Given the description of an element on the screen output the (x, y) to click on. 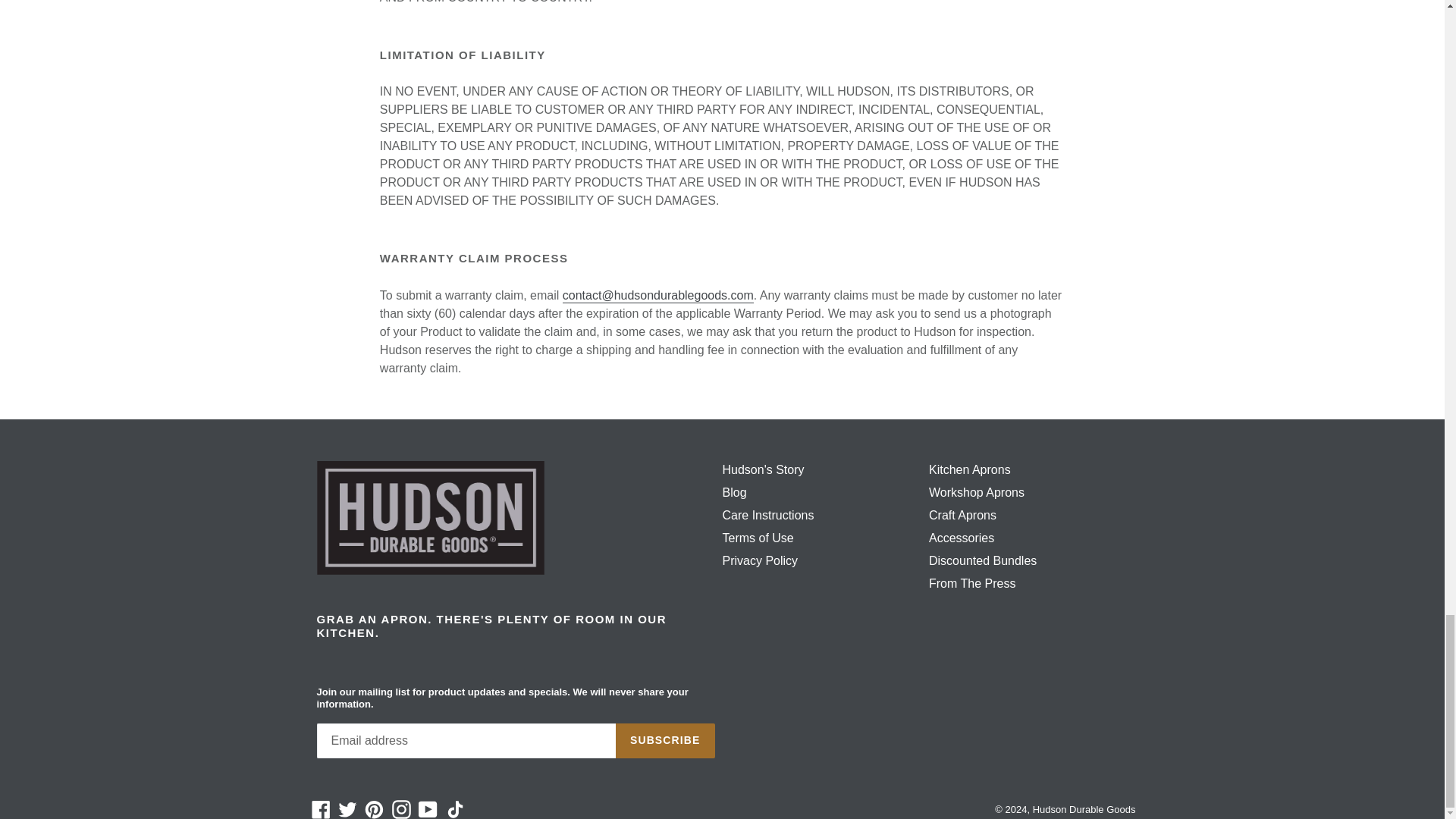
Craft Aprons (961, 514)
Privacy Policy (759, 560)
Care Instructions (767, 514)
Blog (733, 492)
Kitchen Aprons (969, 469)
Workshop Aprons (976, 492)
SUBSCRIBE (664, 740)
Hudson's Story (762, 469)
Terms of Use (757, 537)
Discounted Bundles (982, 560)
Accessories (961, 537)
